Given the description of an element on the screen output the (x, y) to click on. 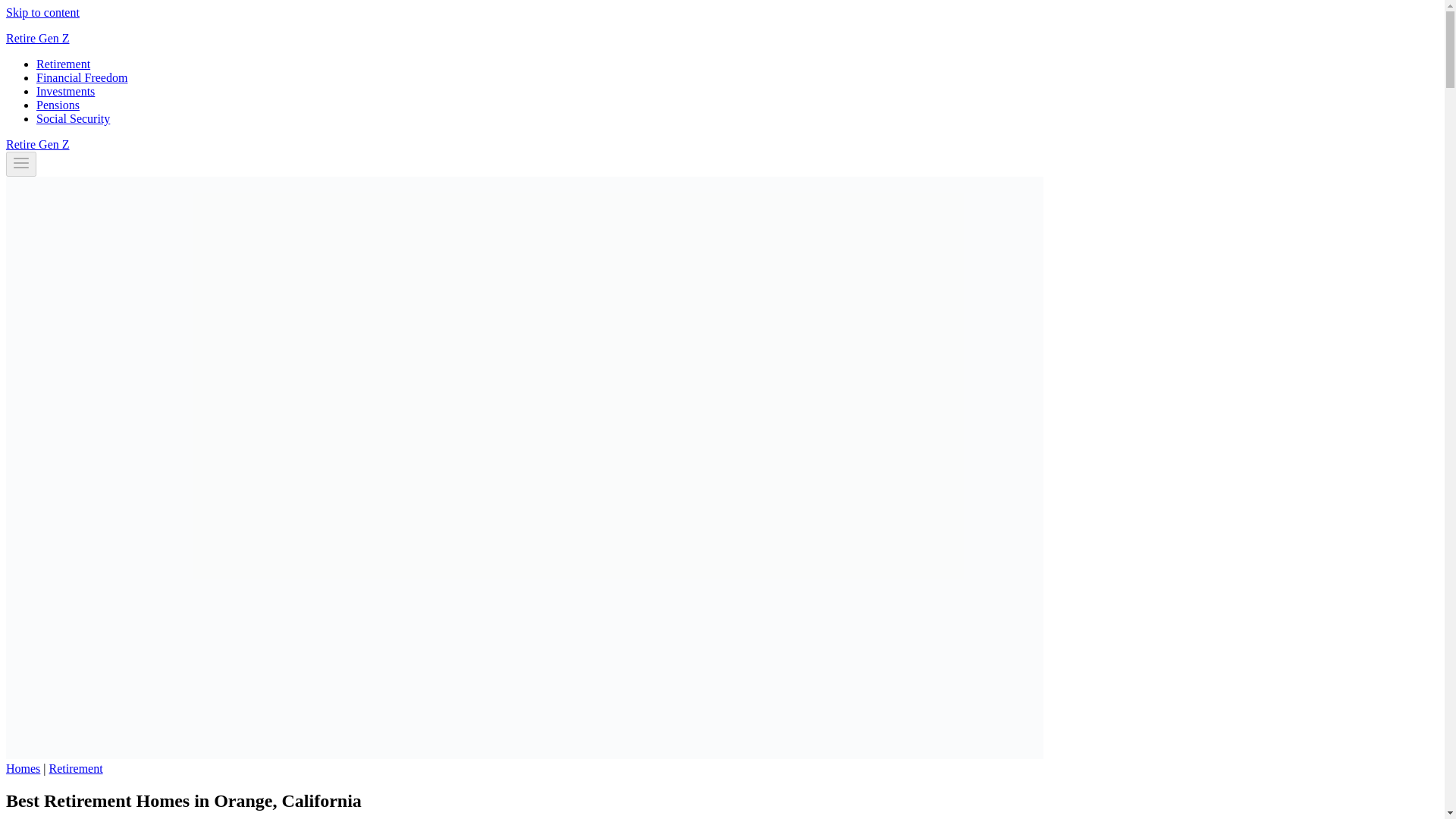
Toggle Menu (20, 163)
Homes (22, 768)
Toggle Menu (20, 162)
Social Security (73, 118)
Retirement (63, 63)
Retirement (76, 768)
Pensions (58, 104)
Skip to content (42, 11)
Financial Freedom (82, 77)
Investments (65, 91)
Skip to content (42, 11)
